Given the description of an element on the screen output the (x, y) to click on. 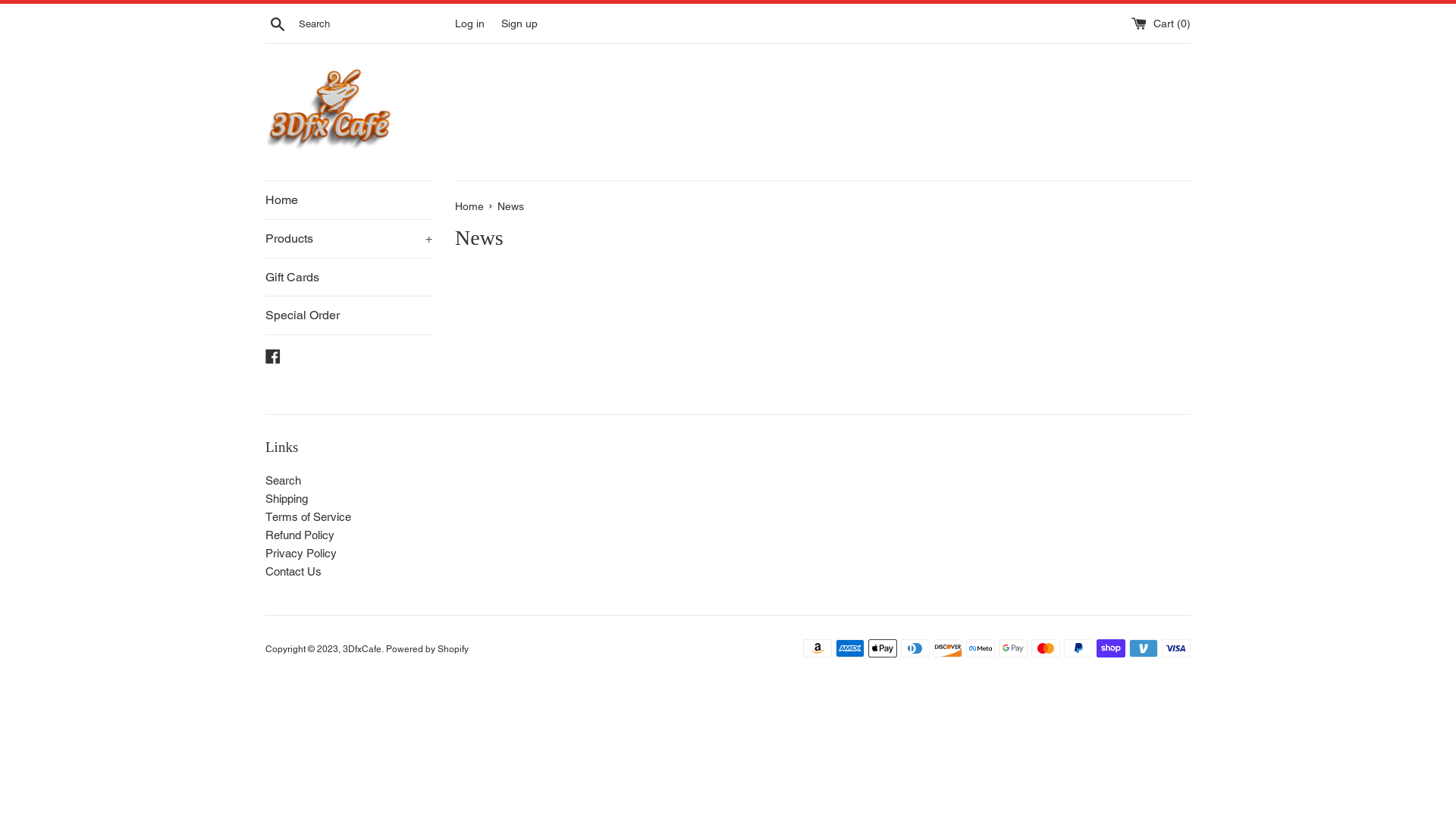
Search Element type: text (283, 479)
Contact Us Element type: text (293, 570)
3DfxCafe Element type: text (361, 648)
Special Order Element type: text (348, 315)
Log in Element type: text (469, 22)
Sign up Element type: text (519, 22)
Search Element type: text (277, 23)
Gift Cards Element type: text (348, 277)
Home Element type: text (348, 200)
Cart (0) Element type: text (1160, 22)
Terms of Service Element type: text (308, 516)
Privacy Policy Element type: text (300, 552)
Products
+ Element type: text (348, 238)
Shipping Element type: text (286, 498)
Refund Policy Element type: text (299, 534)
Home Element type: text (470, 206)
Powered by Shopify Element type: text (426, 648)
Facebook Element type: text (272, 354)
